Given the description of an element on the screen output the (x, y) to click on. 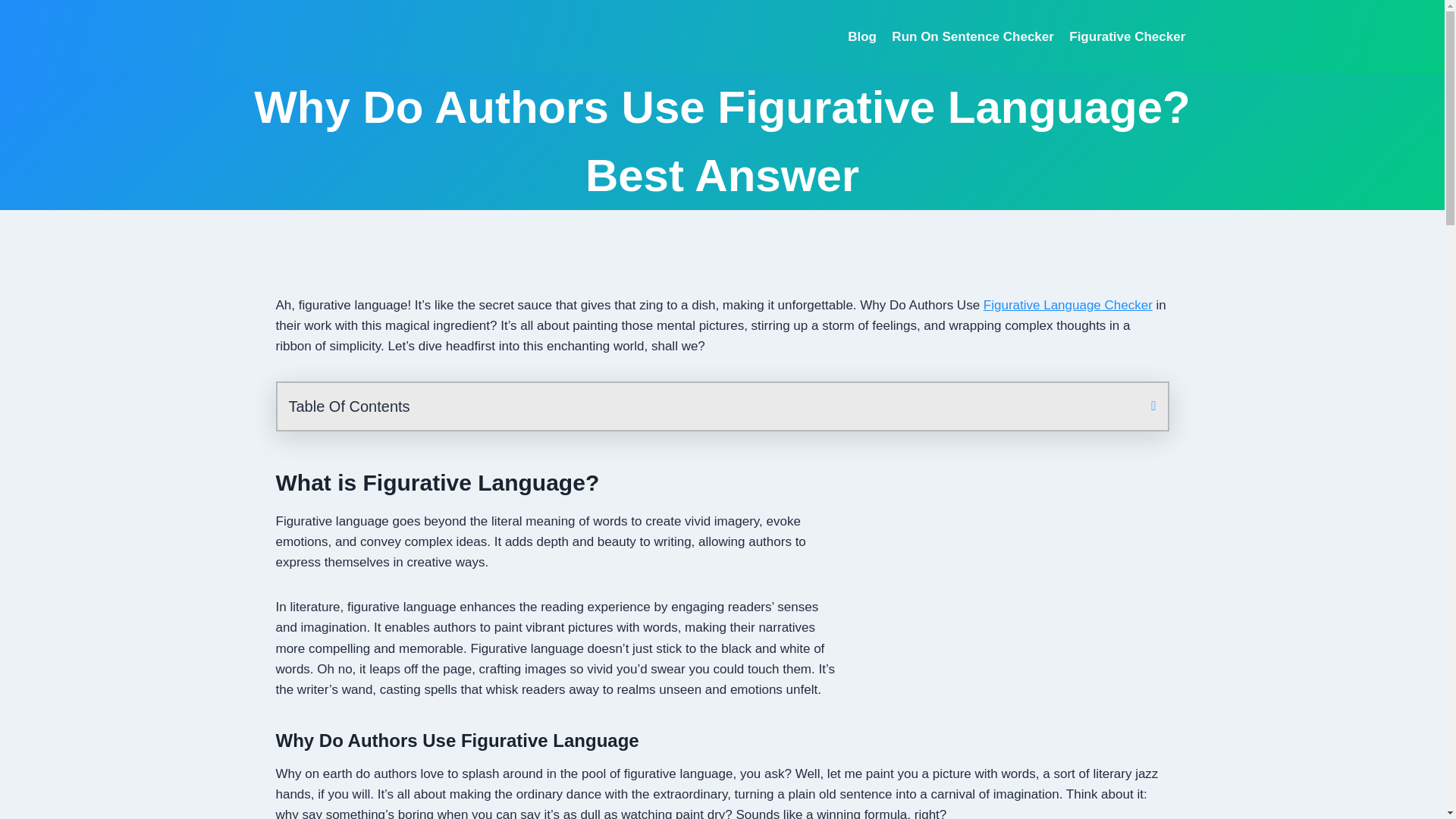
Run On Sentence Checker (972, 36)
Figurative Language Checker (1068, 305)
Figurative Checker (1126, 36)
